Given the description of an element on the screen output the (x, y) to click on. 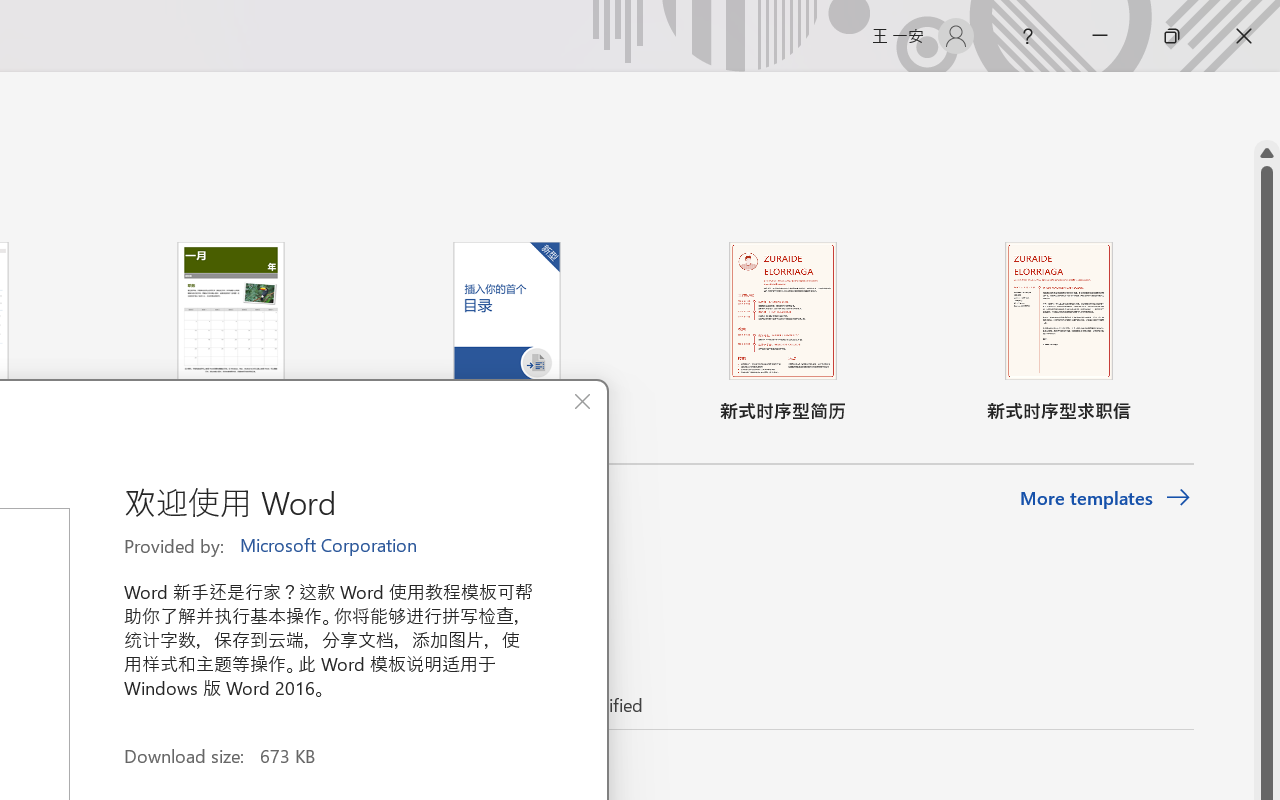
Unpin this item from the list (480, 770)
